Given the description of an element on the screen output the (x, y) to click on. 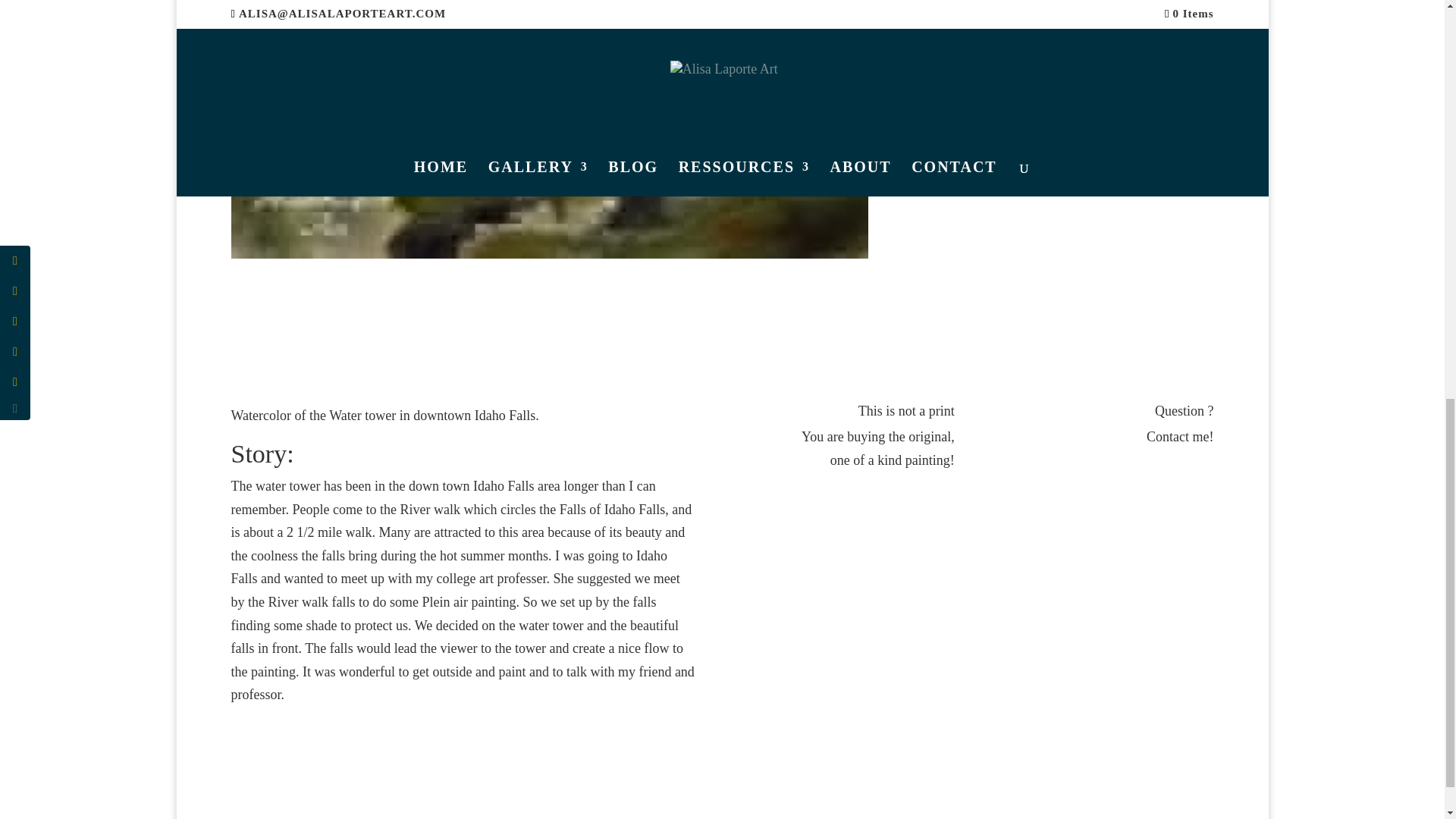
Question ? (1183, 410)
